Given the description of an element on the screen output the (x, y) to click on. 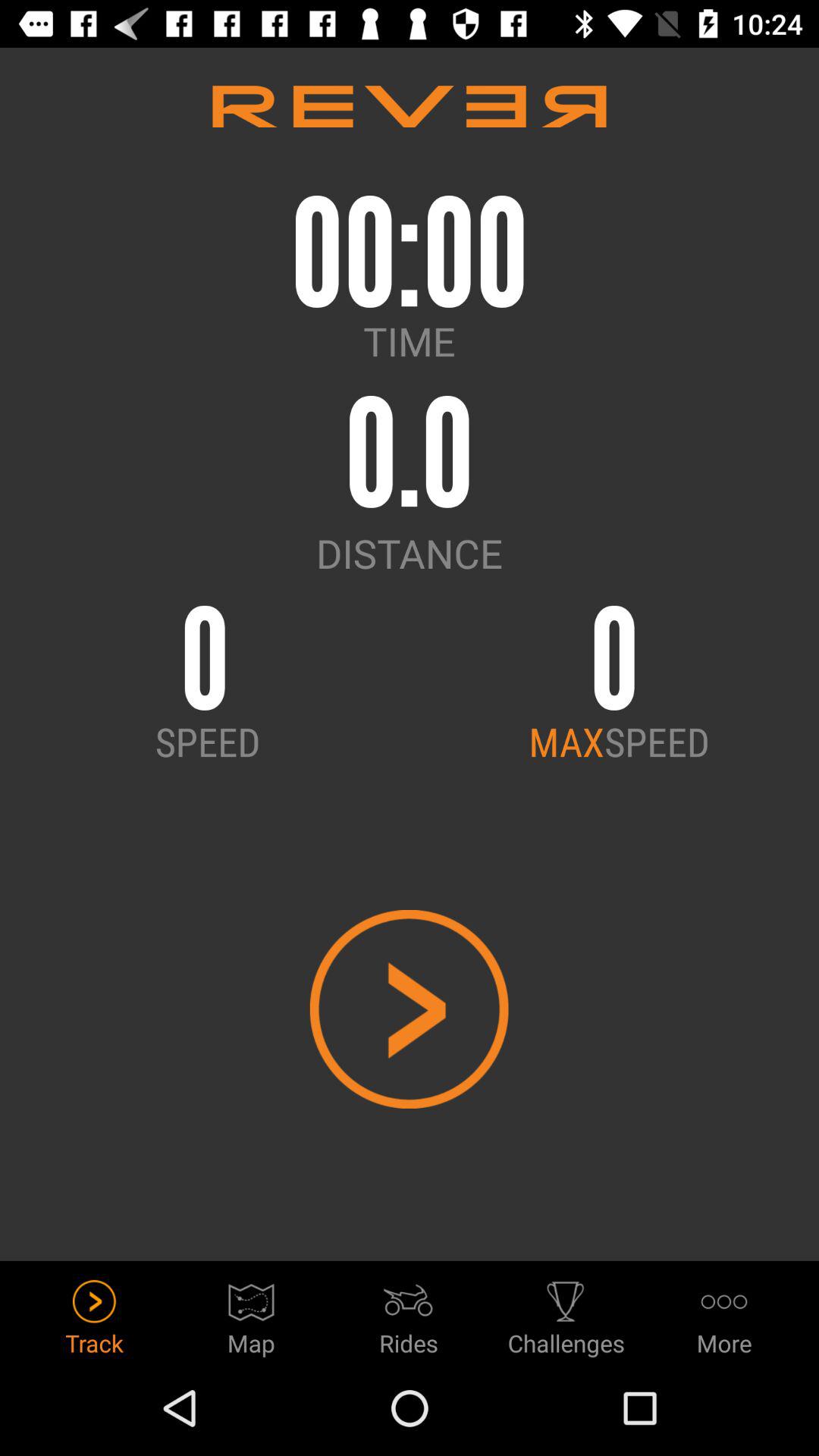
tap item to the left of the speed (566, 740)
